Given the description of an element on the screen output the (x, y) to click on. 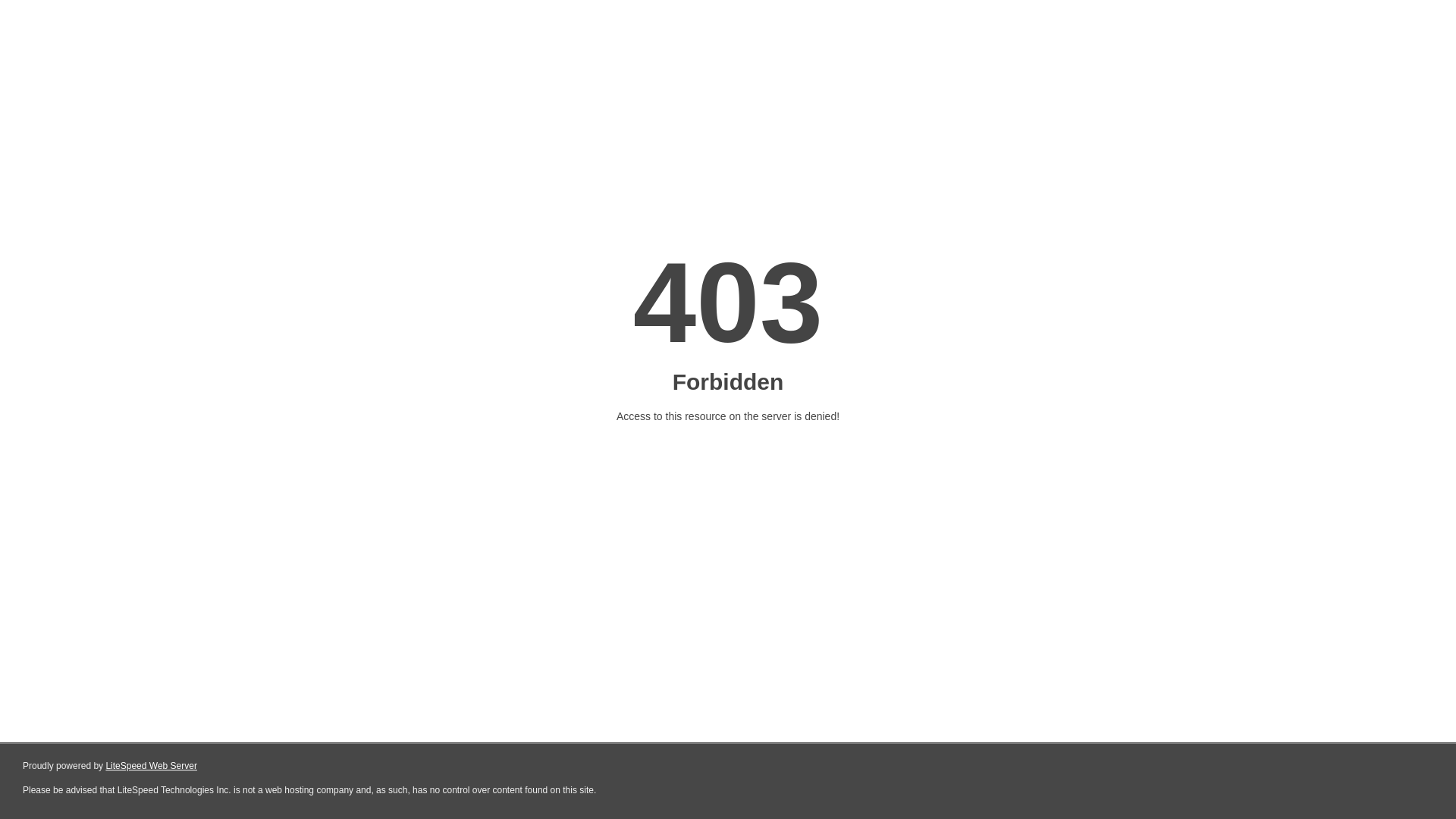
LiteSpeed Web Server Element type: text (151, 765)
